Given the description of an element on the screen output the (x, y) to click on. 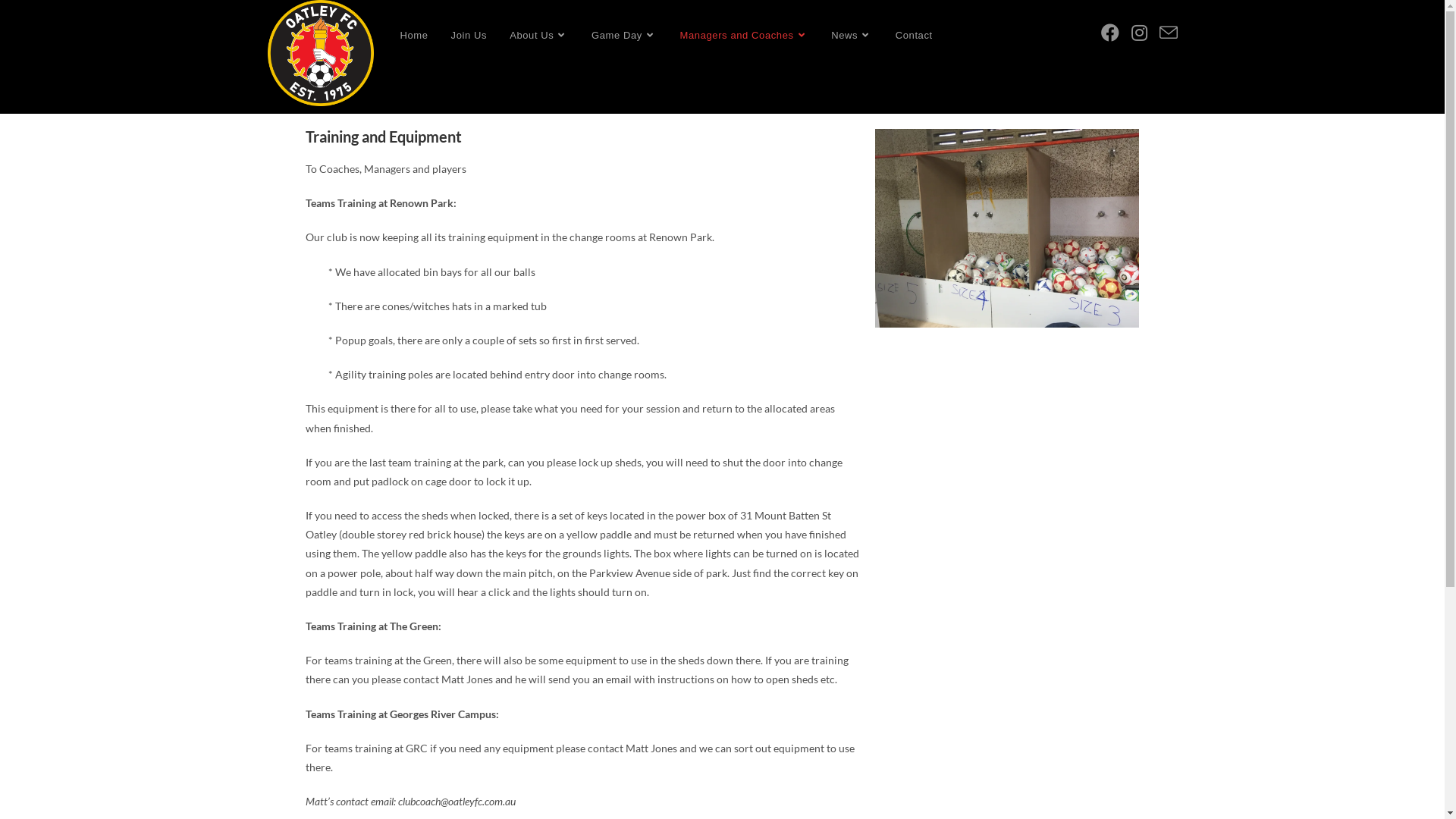
Home Element type: text (413, 35)
News Element type: text (851, 35)
Managers and Coaches Element type: text (744, 35)
Contact Element type: text (914, 35)
Join Us Element type: text (468, 35)
Game Day Element type: text (624, 35)
About Us Element type: text (539, 35)
